Given the description of an element on the screen output the (x, y) to click on. 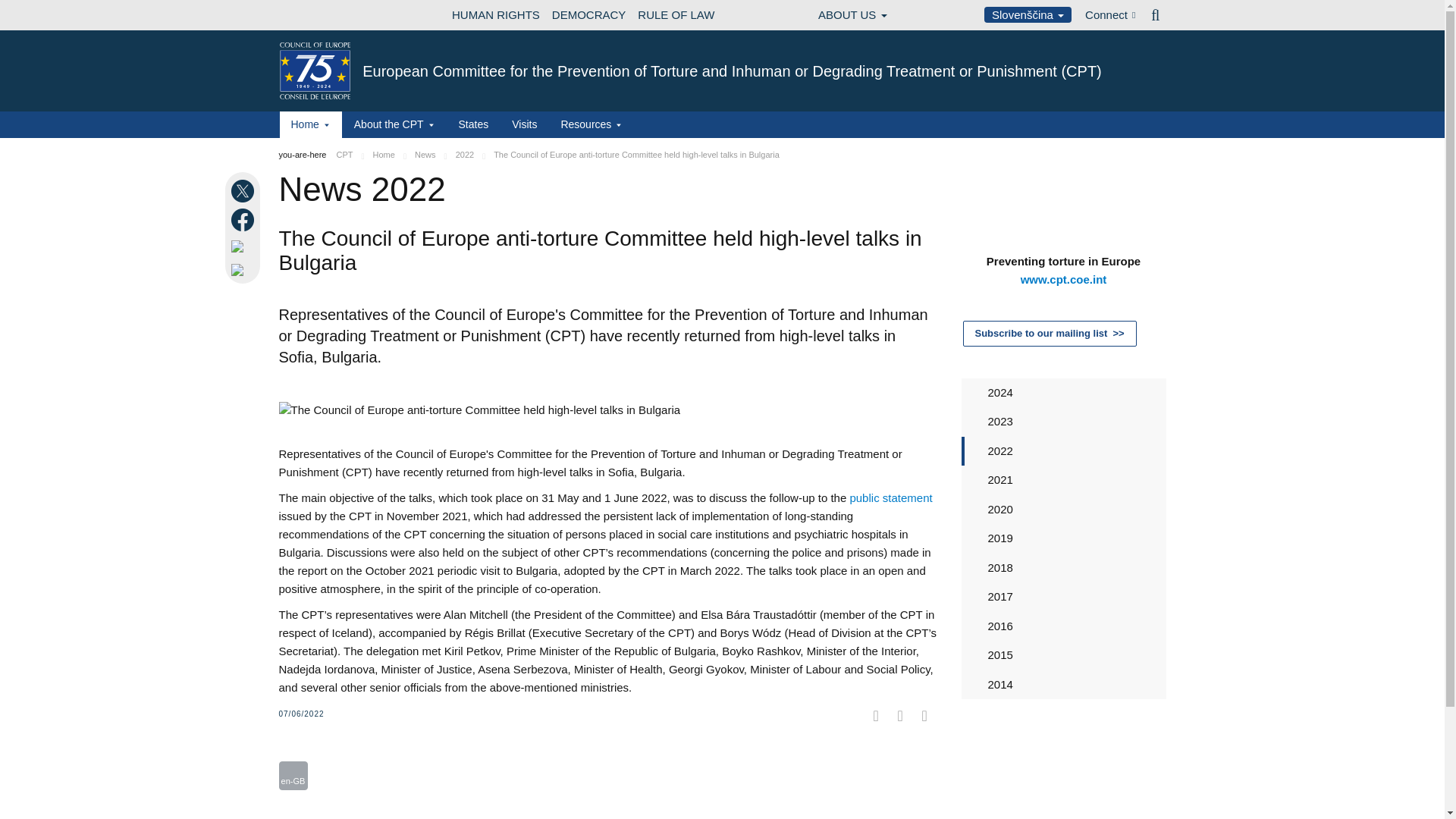
DEMOCRACY (588, 15)
ABOUT US (852, 15)
Cvrkutati (312, 751)
Akcije (293, 775)
WWW.COE.INT (317, 15)
RULE OF LAW (675, 15)
HUMAN RIGHTS (495, 15)
Send this page (244, 269)
Facebook (290, 751)
Share on Linkedin (244, 245)
Share on Facebook (244, 219)
